Given the description of an element on the screen output the (x, y) to click on. 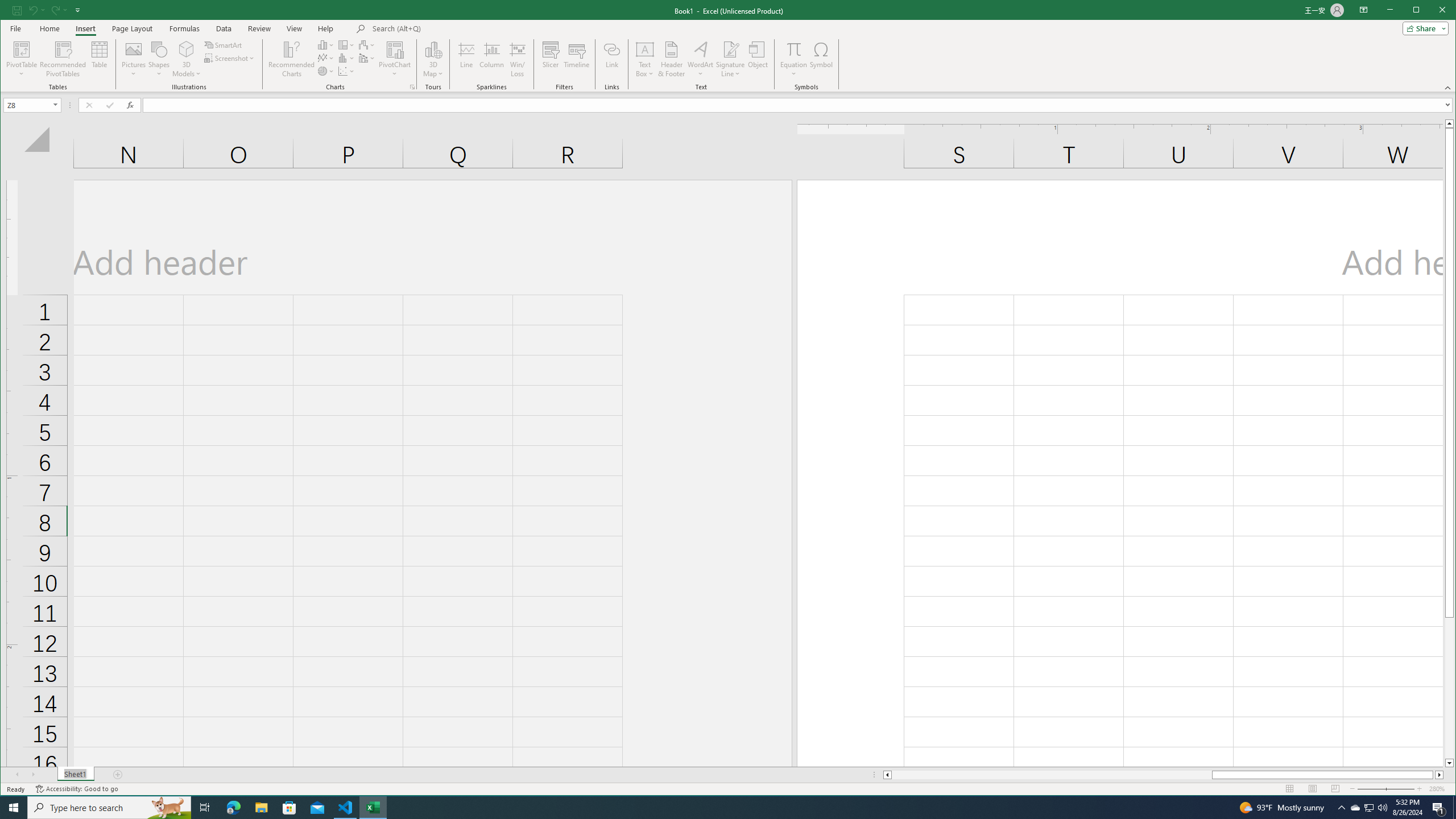
Page down (1449, 687)
Symbol... (821, 59)
Page left (1051, 774)
Open (55, 105)
Table (99, 59)
Timeline (576, 59)
Line up (1449, 122)
